Given the description of an element on the screen output the (x, y) to click on. 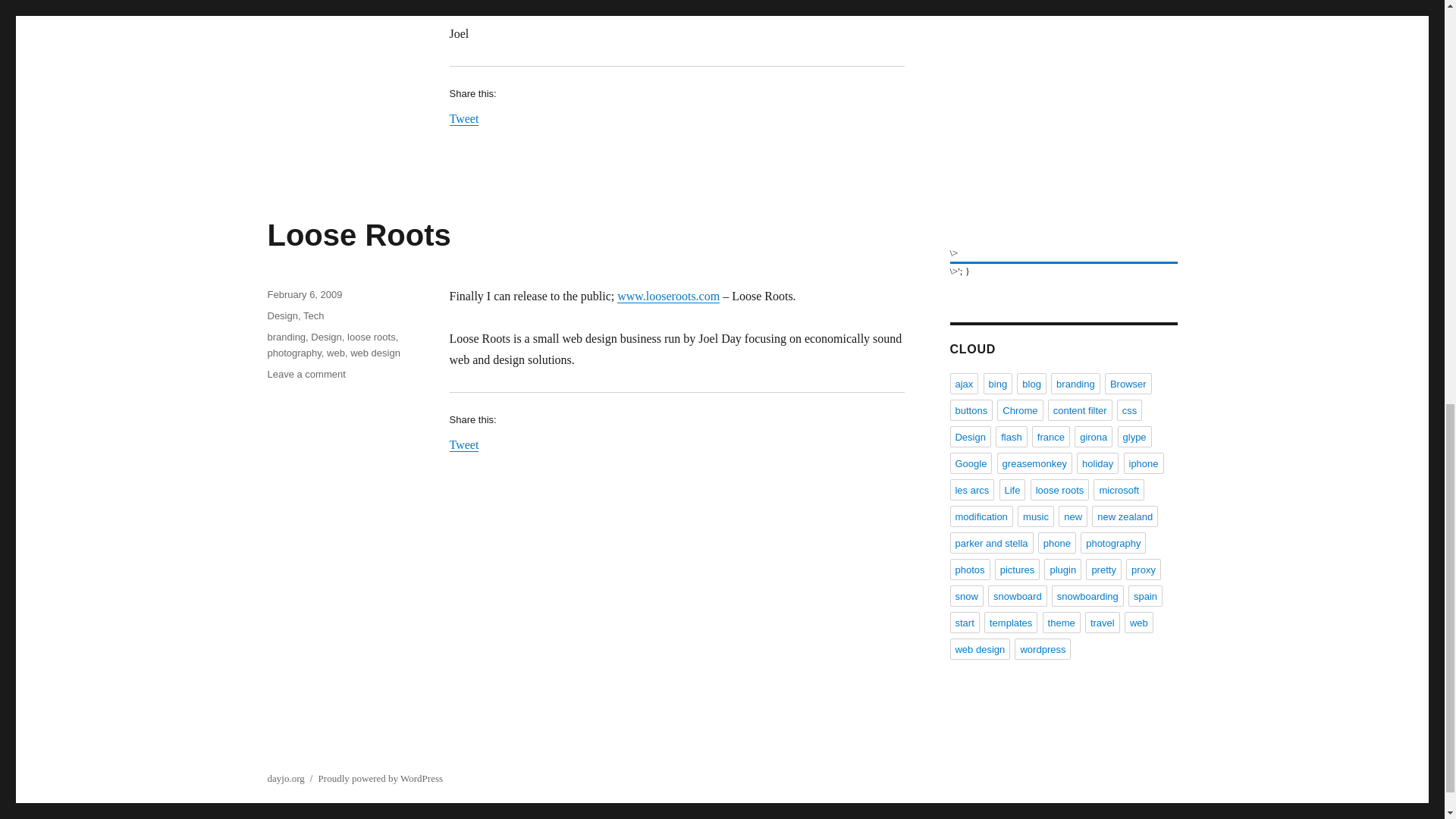
Design (305, 374)
Tweet (281, 315)
web (463, 444)
Tech (335, 352)
www.looseroots.com (312, 315)
photography (668, 295)
web design (293, 352)
Loose Roots (375, 352)
February 6, 2009 (357, 234)
Design (304, 294)
branding (325, 337)
Tweet (285, 337)
loose roots (463, 118)
